Given the description of an element on the screen output the (x, y) to click on. 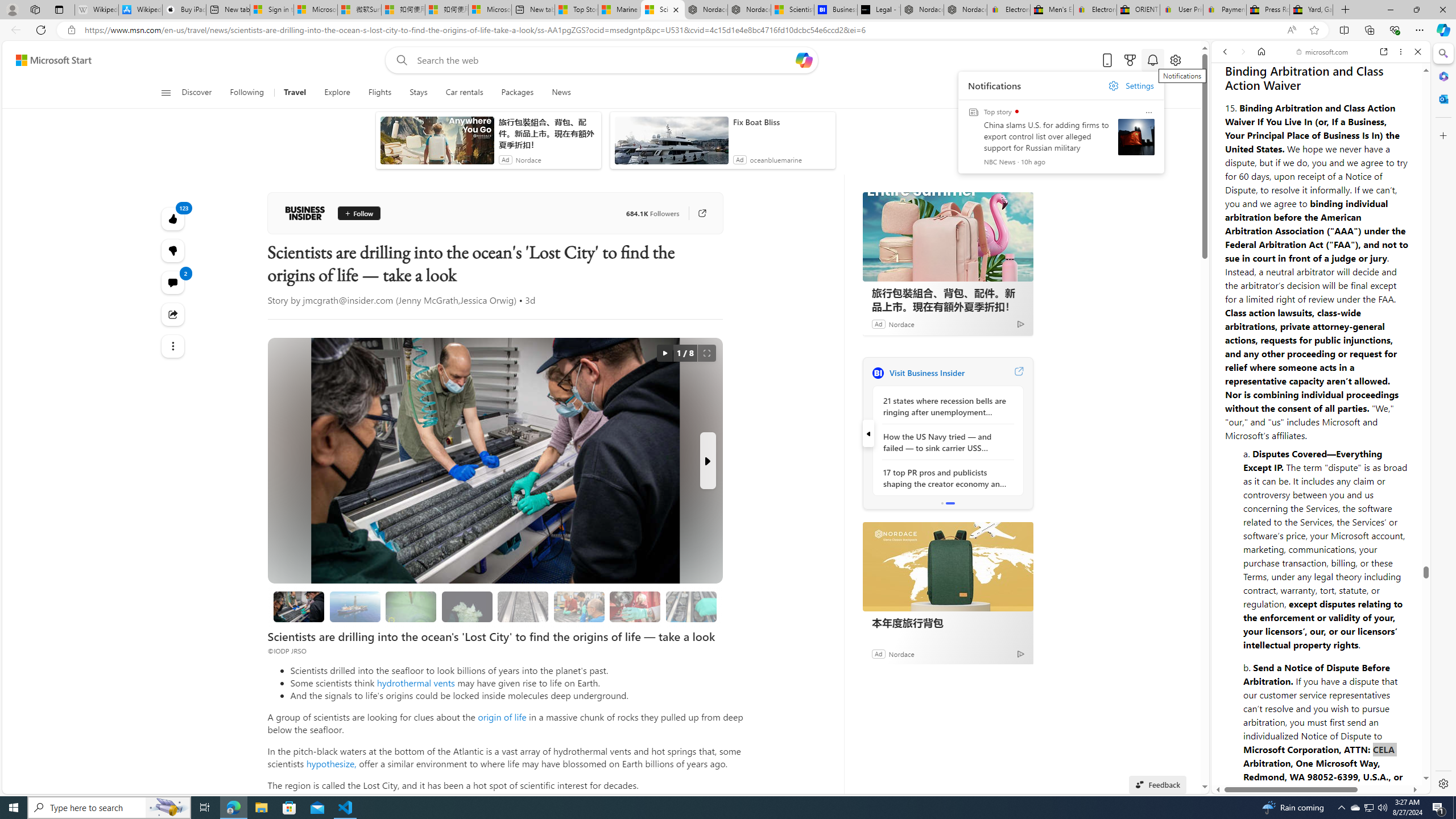
hydrothermal vents (415, 682)
123 (172, 250)
Legal (1292, 757)
Privacy (1252, 757)
Microsoft account | Account Checkup (489, 9)
View site information (70, 29)
Following (246, 92)
Discover (197, 92)
Wikipedia - Sleeping (96, 9)
Microsoft 365 (1442, 76)
Nordace (901, 653)
Feedback (1384, 751)
